Given the description of an element on the screen output the (x, y) to click on. 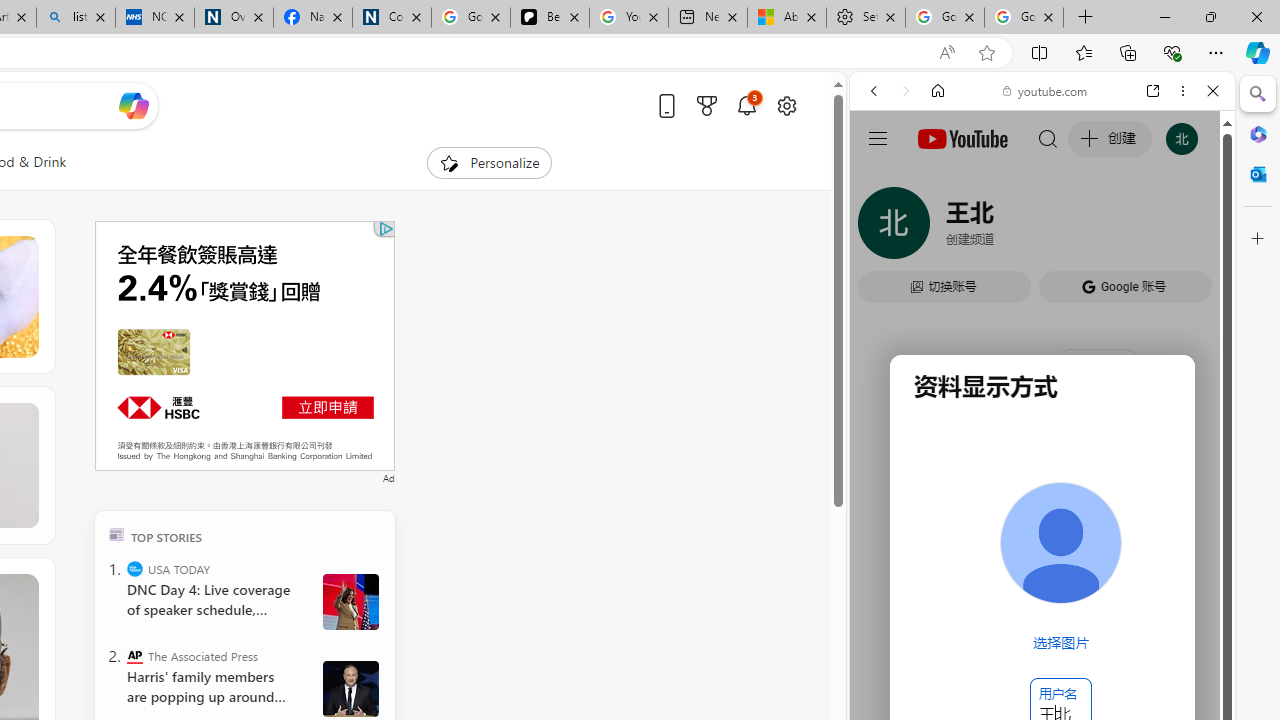
YouTube (1034, 296)
list of asthma inhalers uk - Search (76, 17)
Search Filter, IMAGES (939, 228)
AutomationID: canvas (244, 345)
Personalize (488, 162)
